Given the description of an element on the screen output the (x, y) to click on. 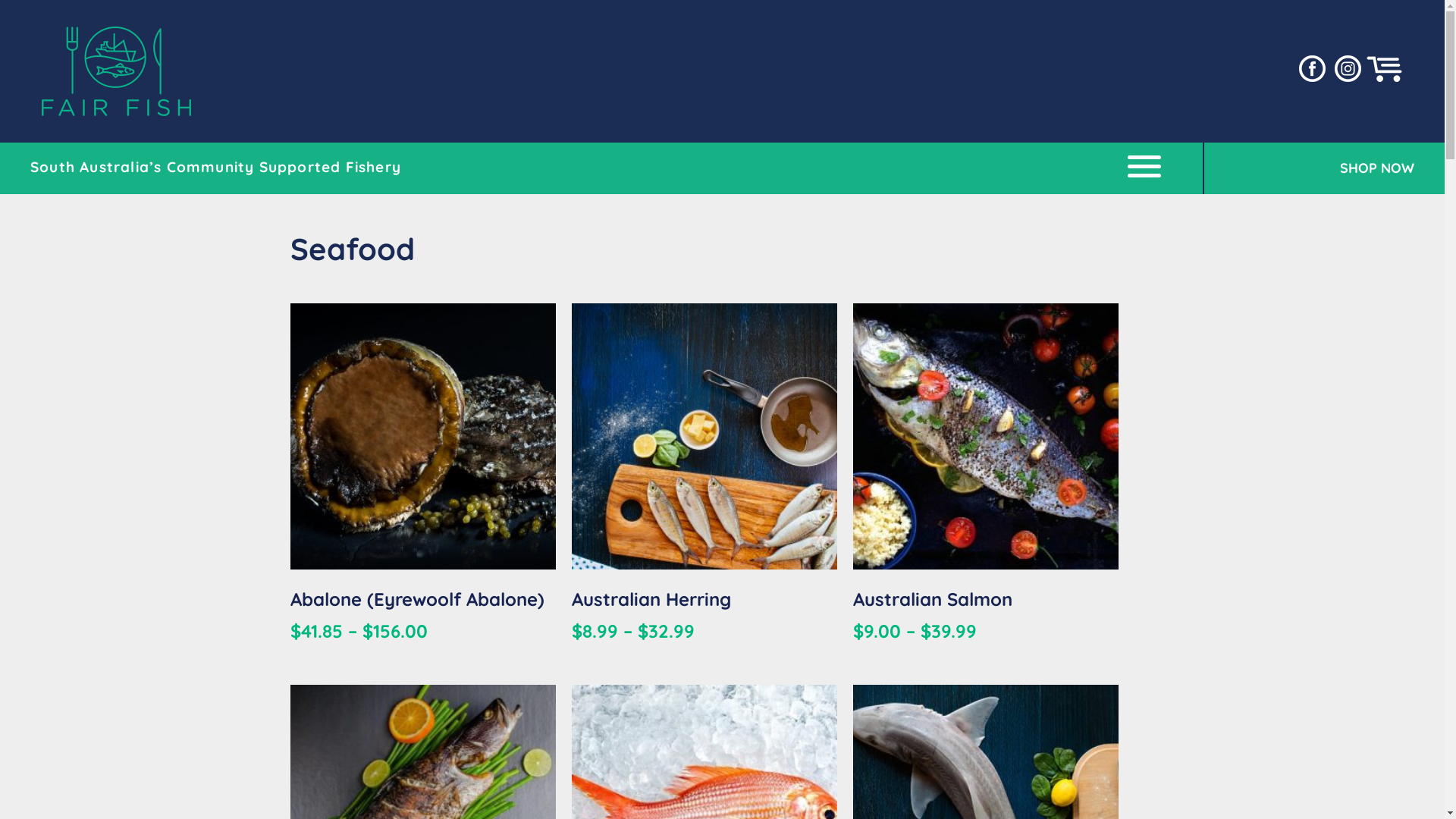
SHOP NOW Element type: text (1308, 168)
Toggle navigation Element type: text (1144, 166)
